Given the description of an element on the screen output the (x, y) to click on. 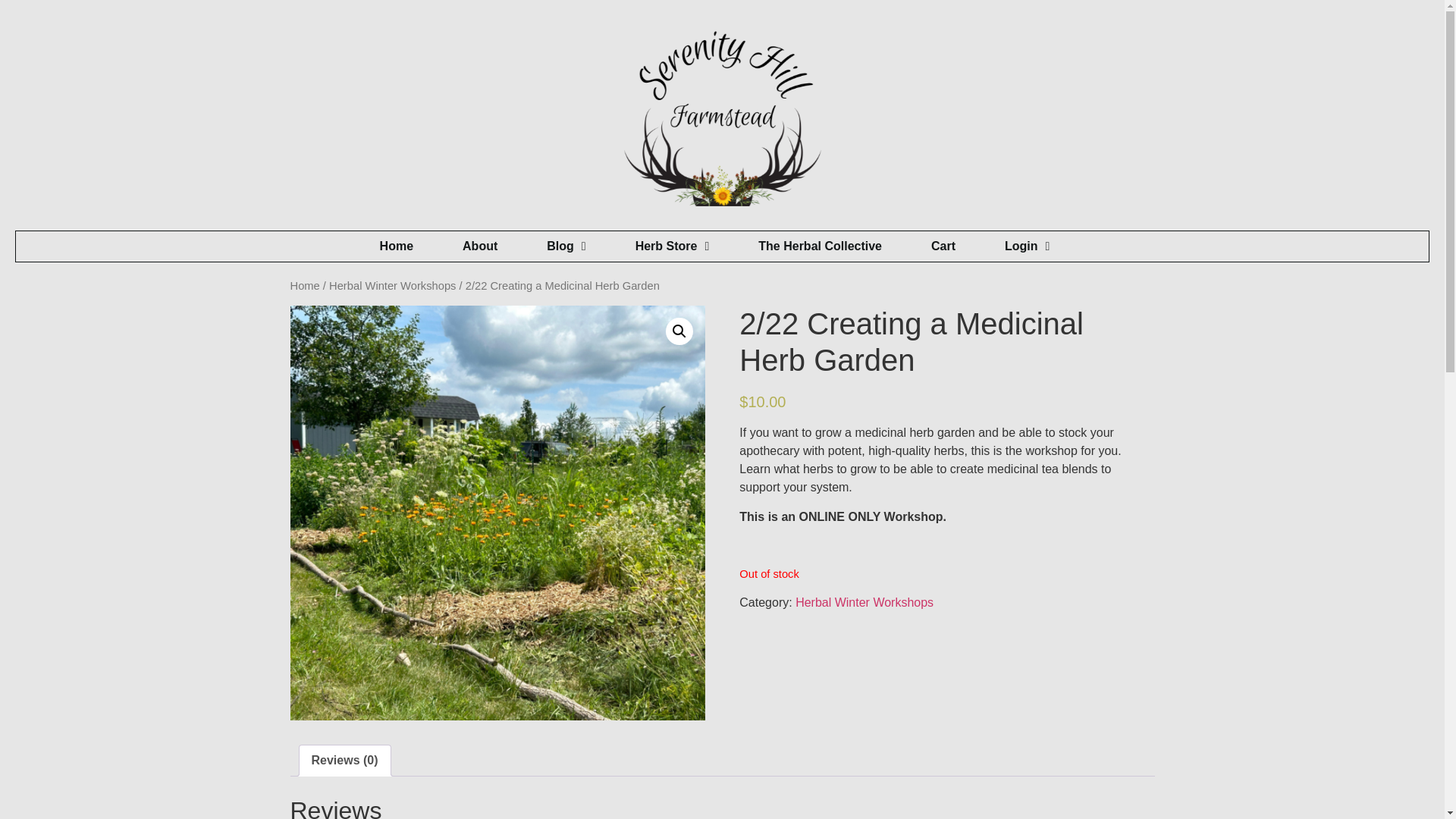
Herb Store (672, 246)
The Herbal Collective (820, 246)
Blog (566, 246)
Home (396, 246)
About (480, 246)
Login (1026, 246)
Cart (943, 246)
